Given the description of an element on the screen output the (x, y) to click on. 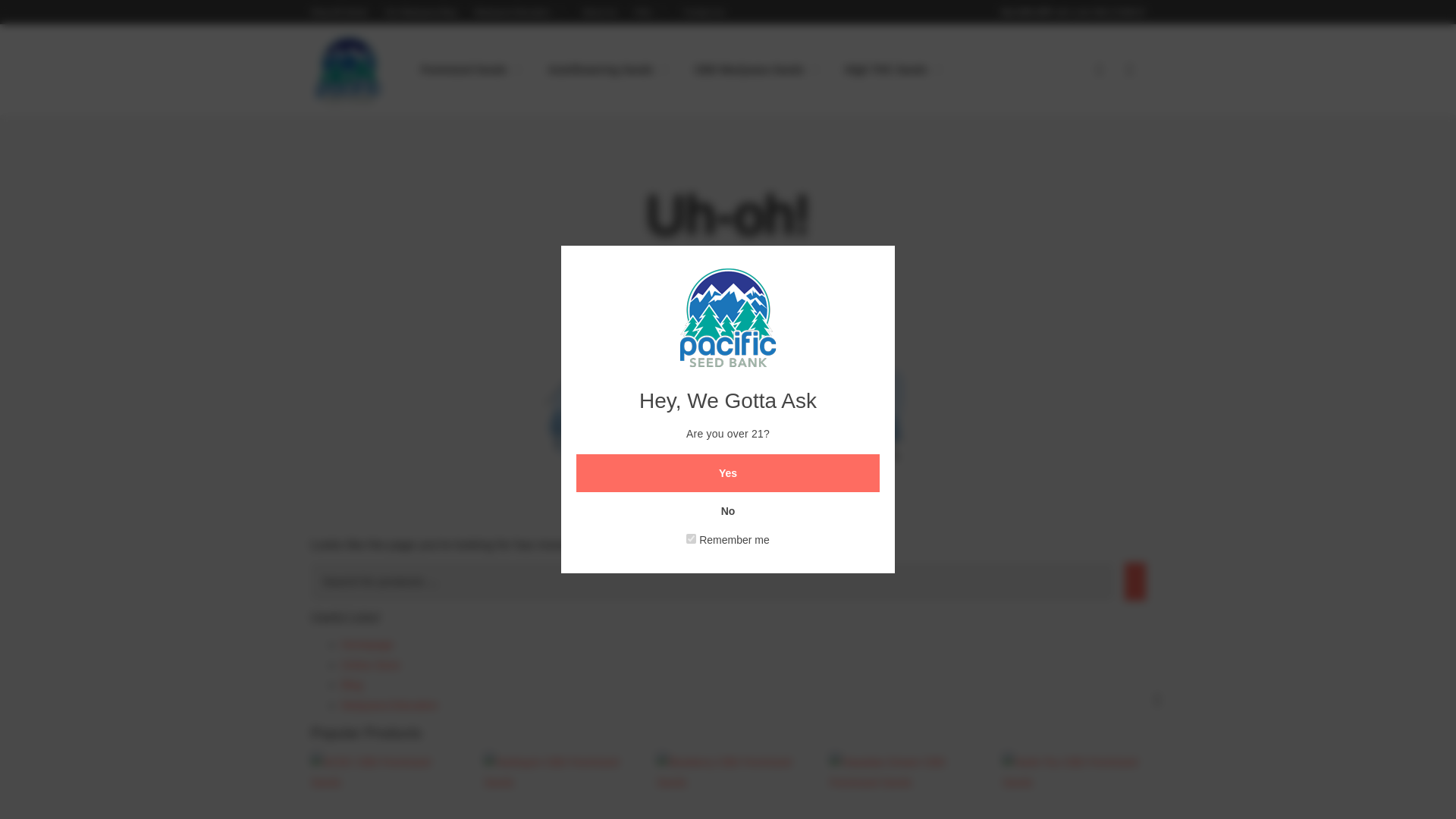
Yes (727, 473)
ACDC CBD Feminized Seeds (381, 785)
Shop All Seeds (339, 11)
FAQ (649, 11)
1 (690, 538)
No (727, 510)
About Us (598, 11)
Feminized Seeds (472, 69)
Search for: (712, 581)
Contact Us (702, 11)
Harlequin CBD Feminized Seeds (555, 785)
Blueberry CBD Feminized Seeds (727, 785)
Harle-Tsu CBD Feminized Seeds (1073, 785)
Marijuana Education (520, 11)
Pacific Seed Bank (349, 70)
